Given the description of an element on the screen output the (x, y) to click on. 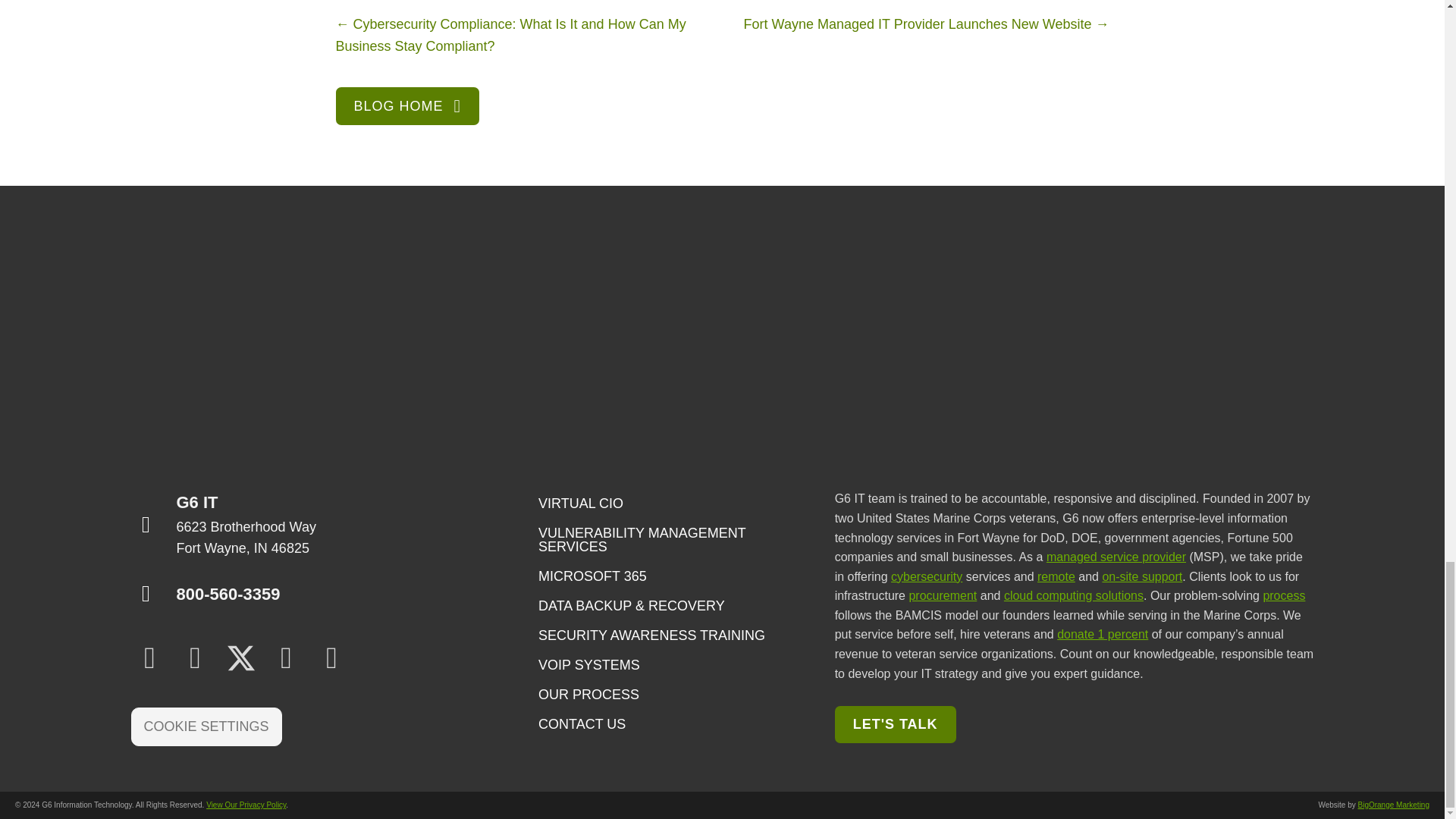
Facebook (195, 658)
LinkedIn (149, 658)
YouTube (331, 658)
Instagram (285, 658)
